Given the description of an element on the screen output the (x, y) to click on. 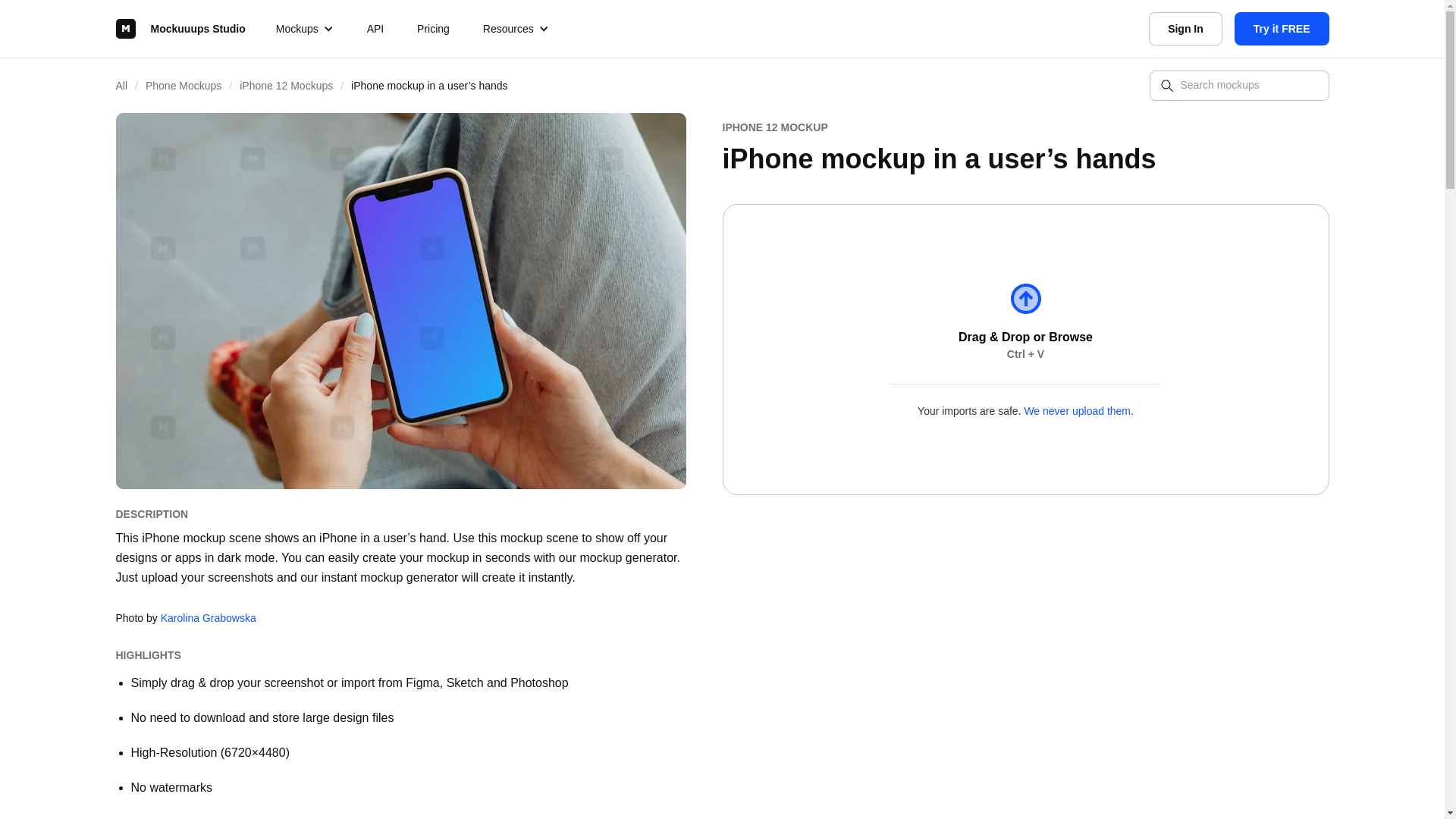
We never upload them (1077, 410)
Karolina Grabowska (208, 617)
Sign In (1185, 28)
Try it FREE (1281, 28)
Browse All Mockups (129, 85)
API (375, 28)
Mockuuups Studio (179, 28)
Pricing (432, 28)
